Given the description of an element on the screen output the (x, y) to click on. 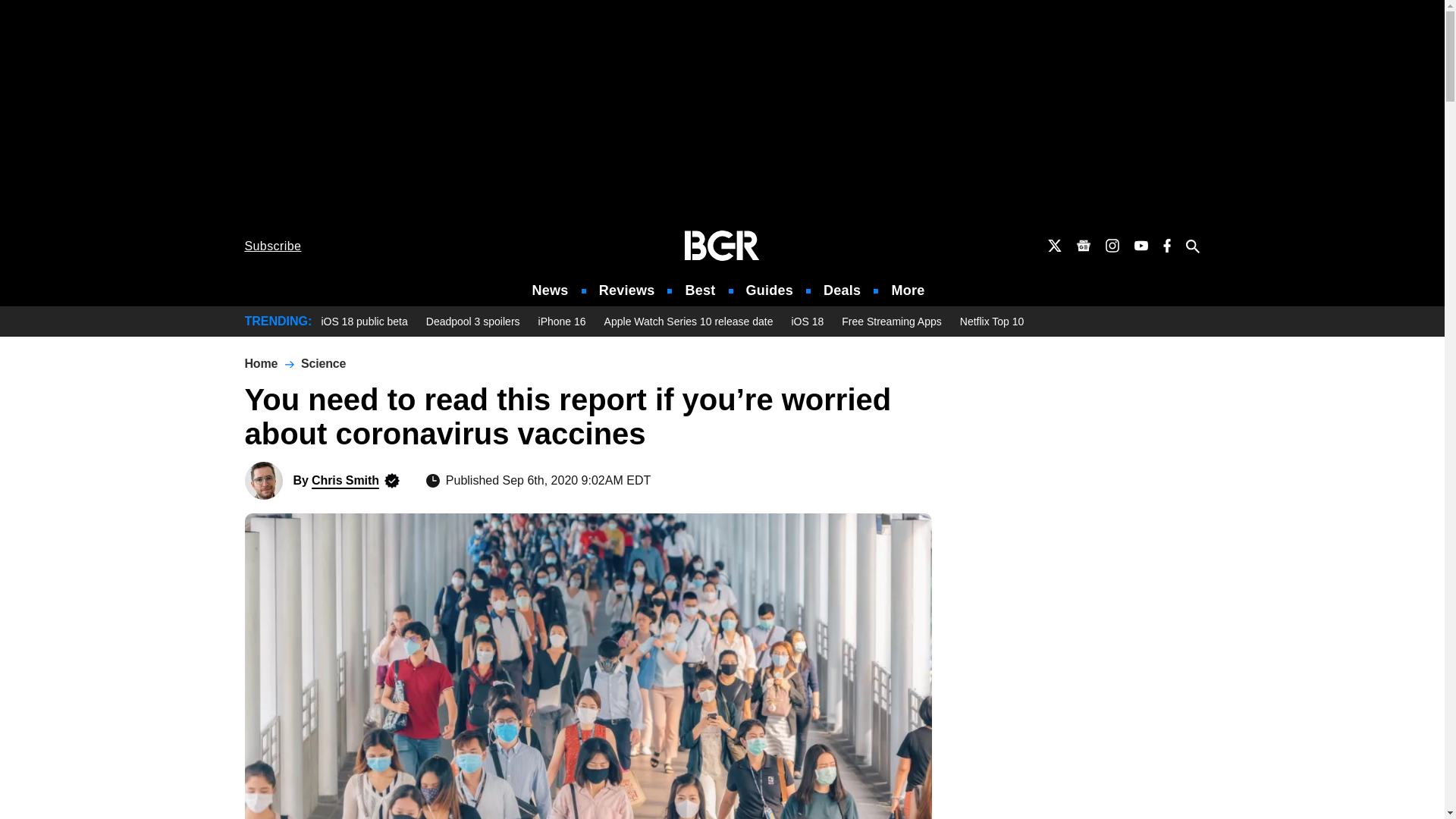
News (550, 290)
Best (699, 290)
Subscribe (272, 245)
Posts by Chris Smith (344, 480)
Deals (842, 290)
More (907, 290)
Reviews (626, 290)
Guides (769, 290)
